Given the description of an element on the screen output the (x, y) to click on. 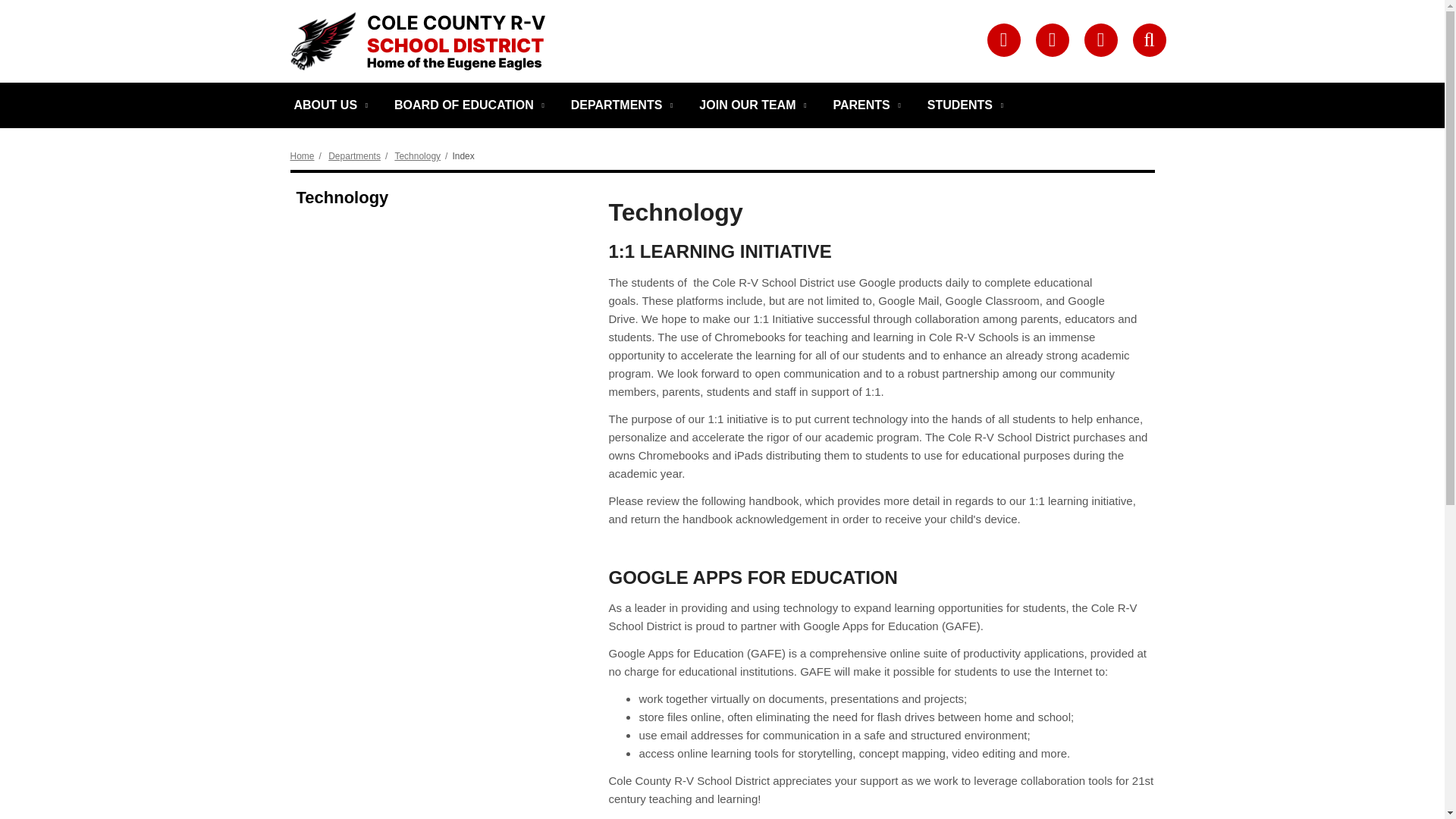
Search our Site (1149, 39)
DEPARTMENTS (620, 104)
ABOUT US (329, 104)
JOIN OUR TEAM (750, 104)
BOARD OF EDUCATION (467, 104)
